Given the description of an element on the screen output the (x, y) to click on. 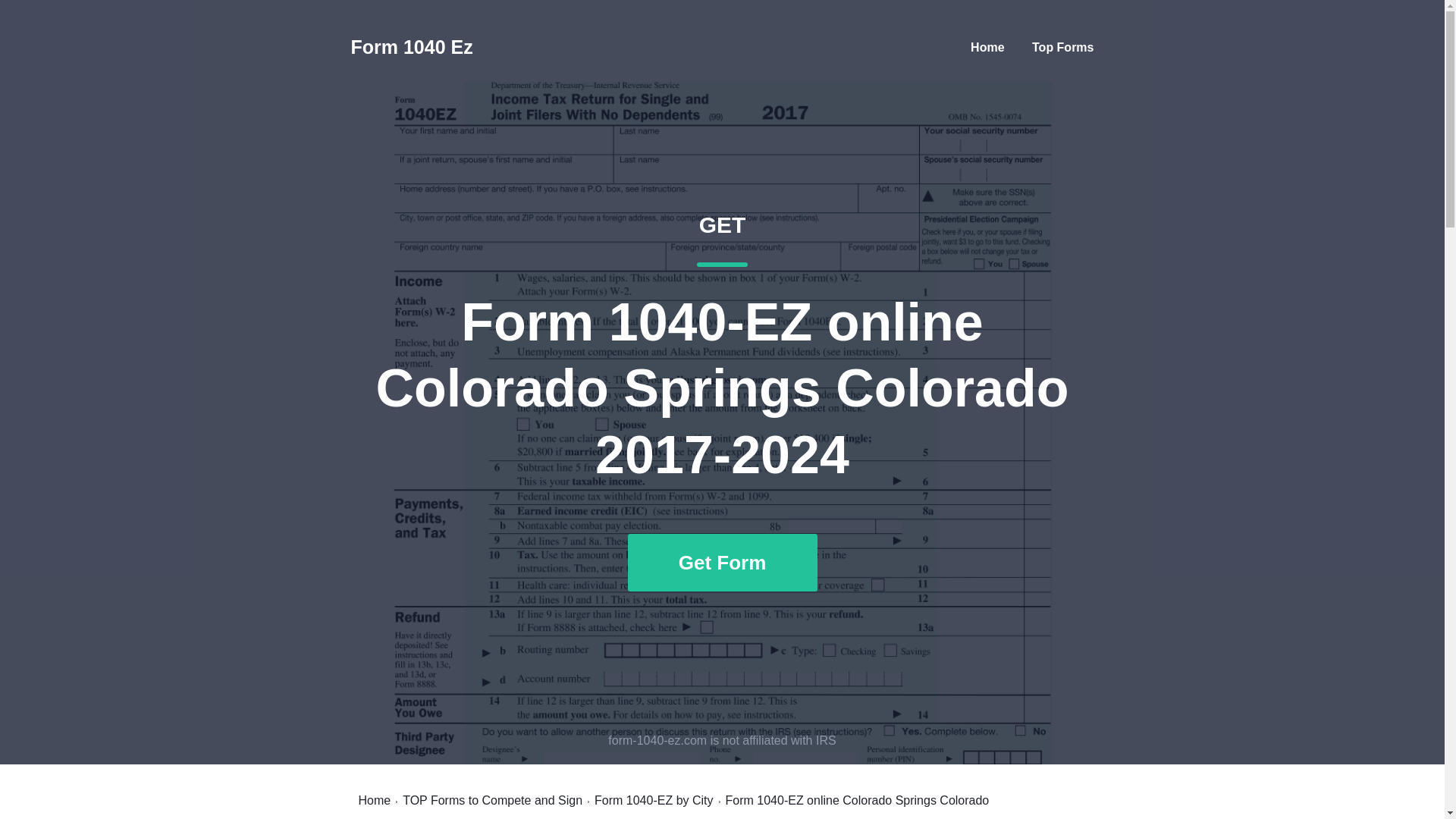
Top Forms (1062, 47)
TOP Forms to Compete and Sign (492, 800)
Form 1040-EZ by City (653, 800)
Home (374, 800)
Form 1040 Ez (410, 46)
Home (987, 47)
